Given the description of an element on the screen output the (x, y) to click on. 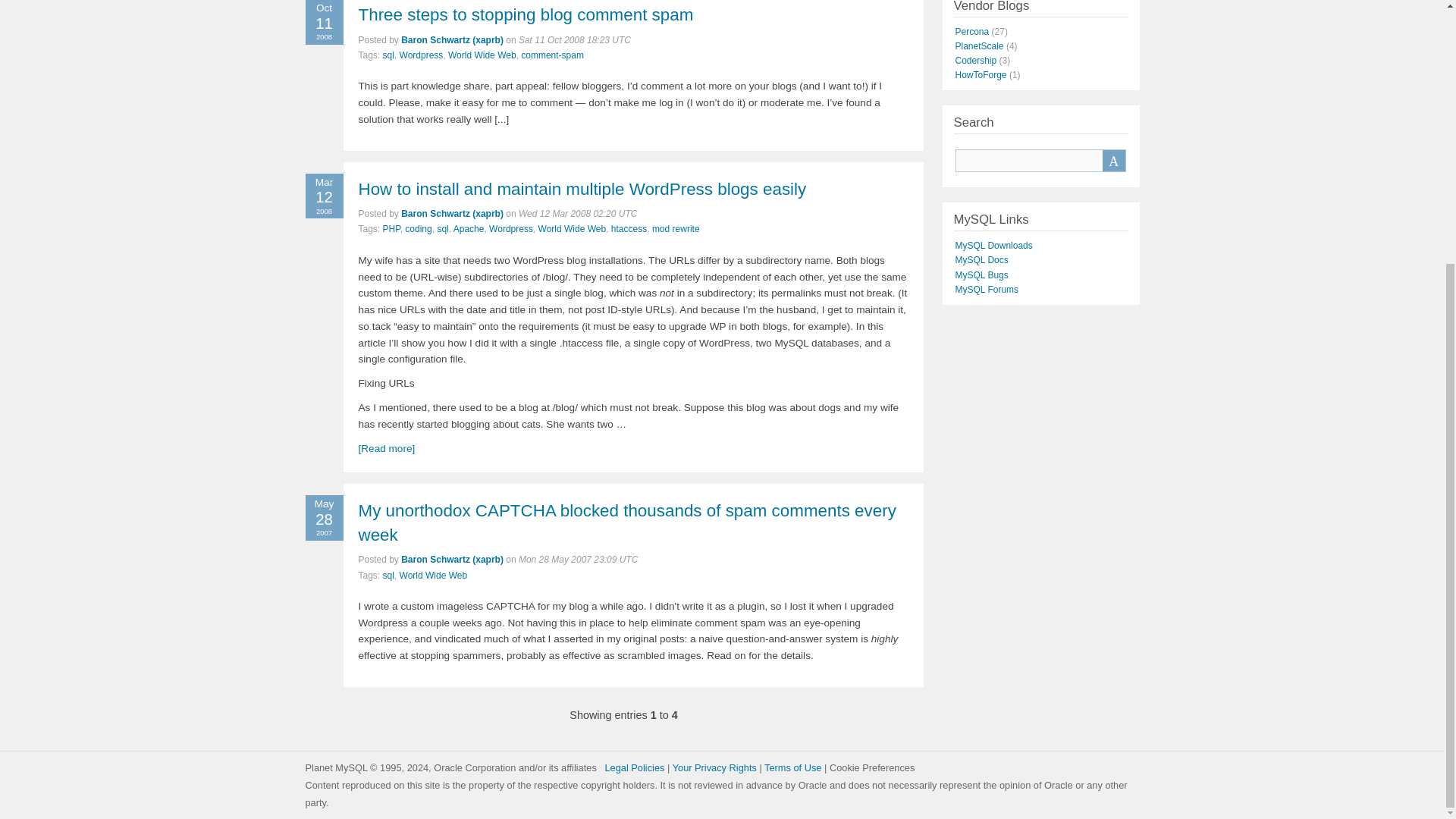
Search (1113, 160)
sql (388, 54)
sql (442, 228)
coding (417, 228)
World Wide Web (482, 54)
comment-spam (552, 54)
Wordpress (421, 54)
Apache (468, 228)
Wordpress (510, 228)
How to install and maintain multiple WordPress blogs easily (582, 189)
Three steps to stopping blog comment spam (525, 14)
PHP (391, 228)
